Given the description of an element on the screen output the (x, y) to click on. 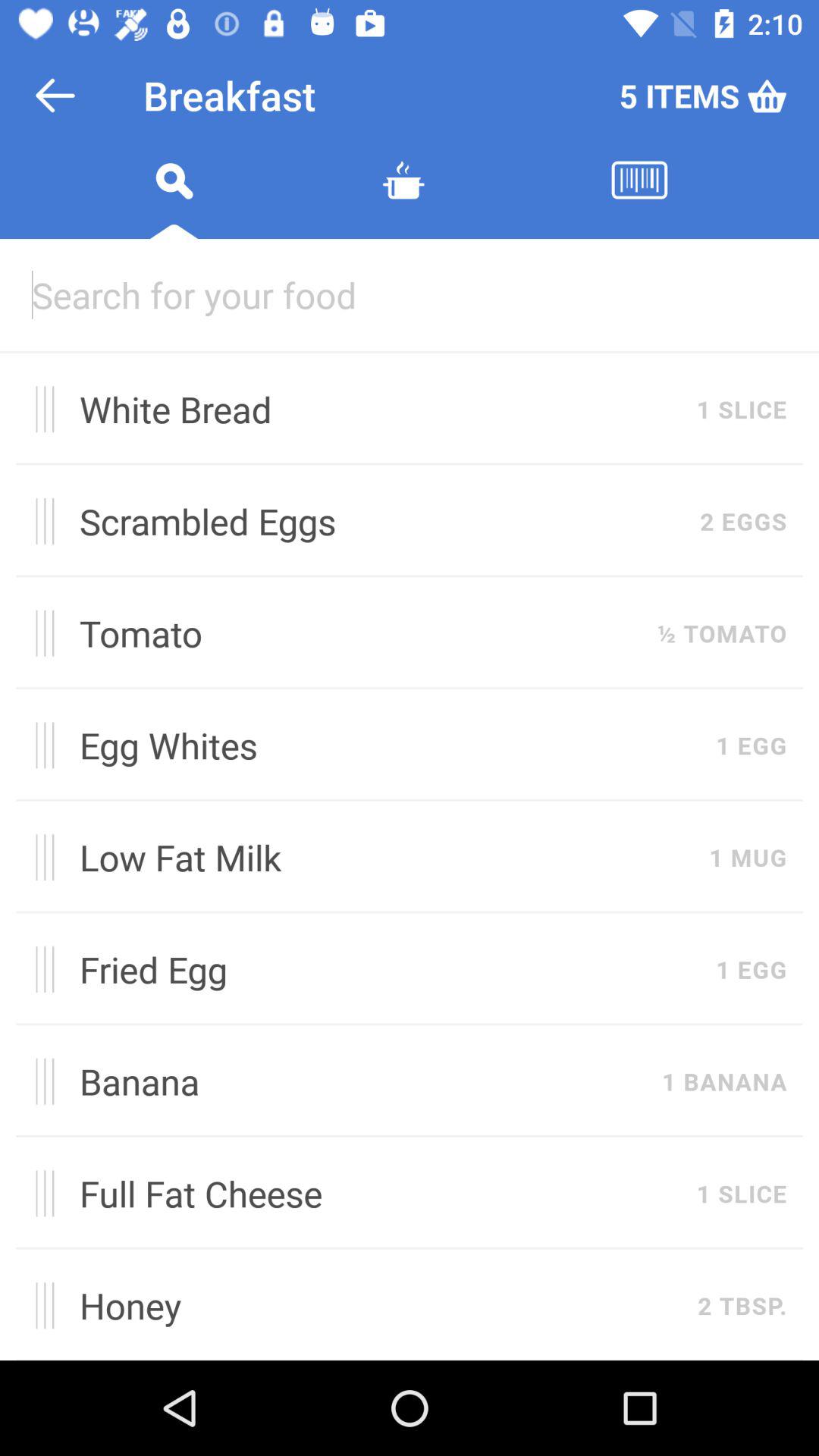
choose the icon to the right of the breakfast item (703, 95)
